Given the description of an element on the screen output the (x, y) to click on. 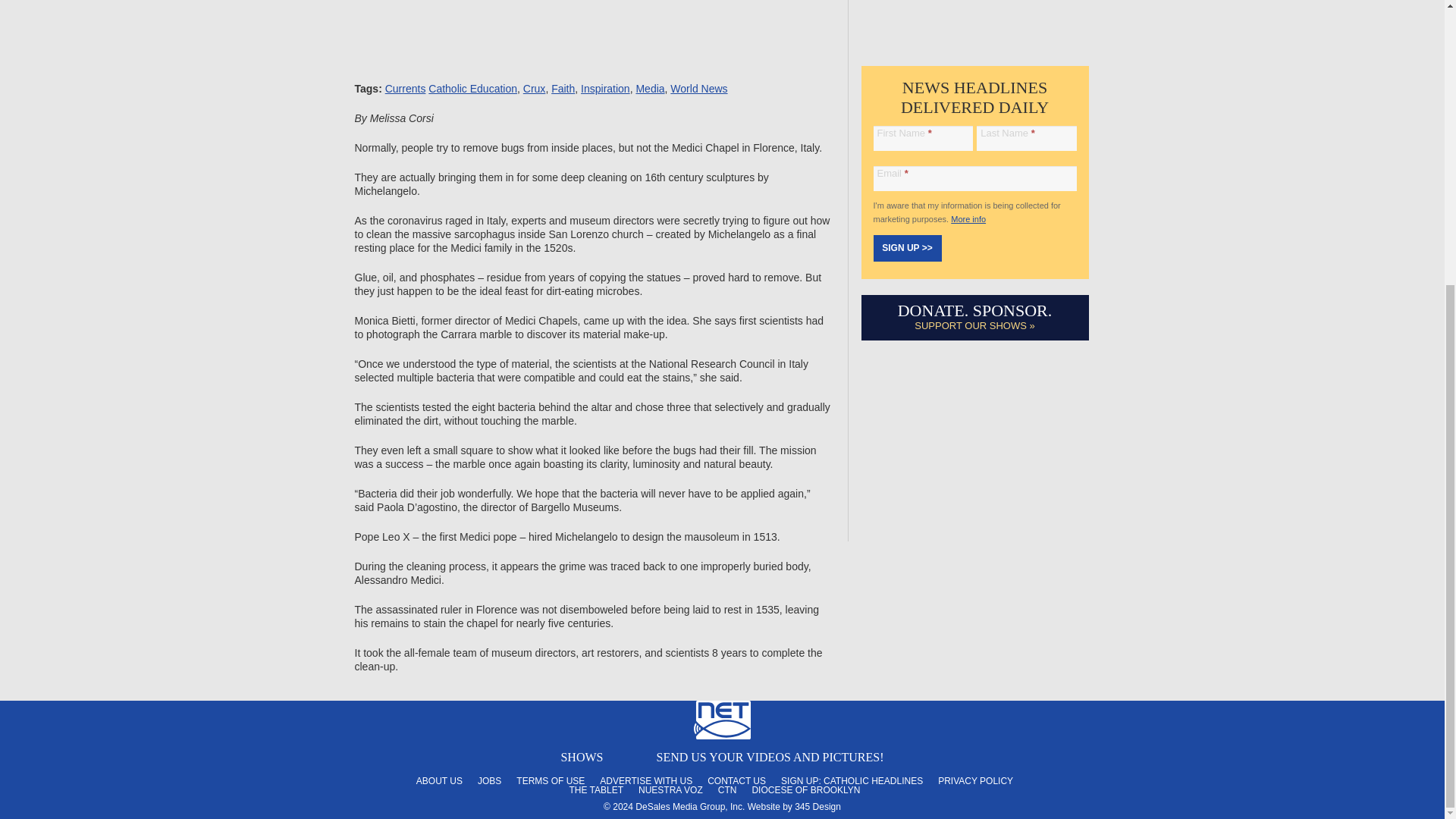
More info (967, 218)
Catholic Education (472, 88)
Crux (534, 88)
Faith (563, 88)
Currents (405, 88)
World News (697, 88)
Inspiration (605, 88)
DONATE. SPONSOR. (975, 310)
Media (648, 88)
SHOWS (581, 757)
